Given the description of an element on the screen output the (x, y) to click on. 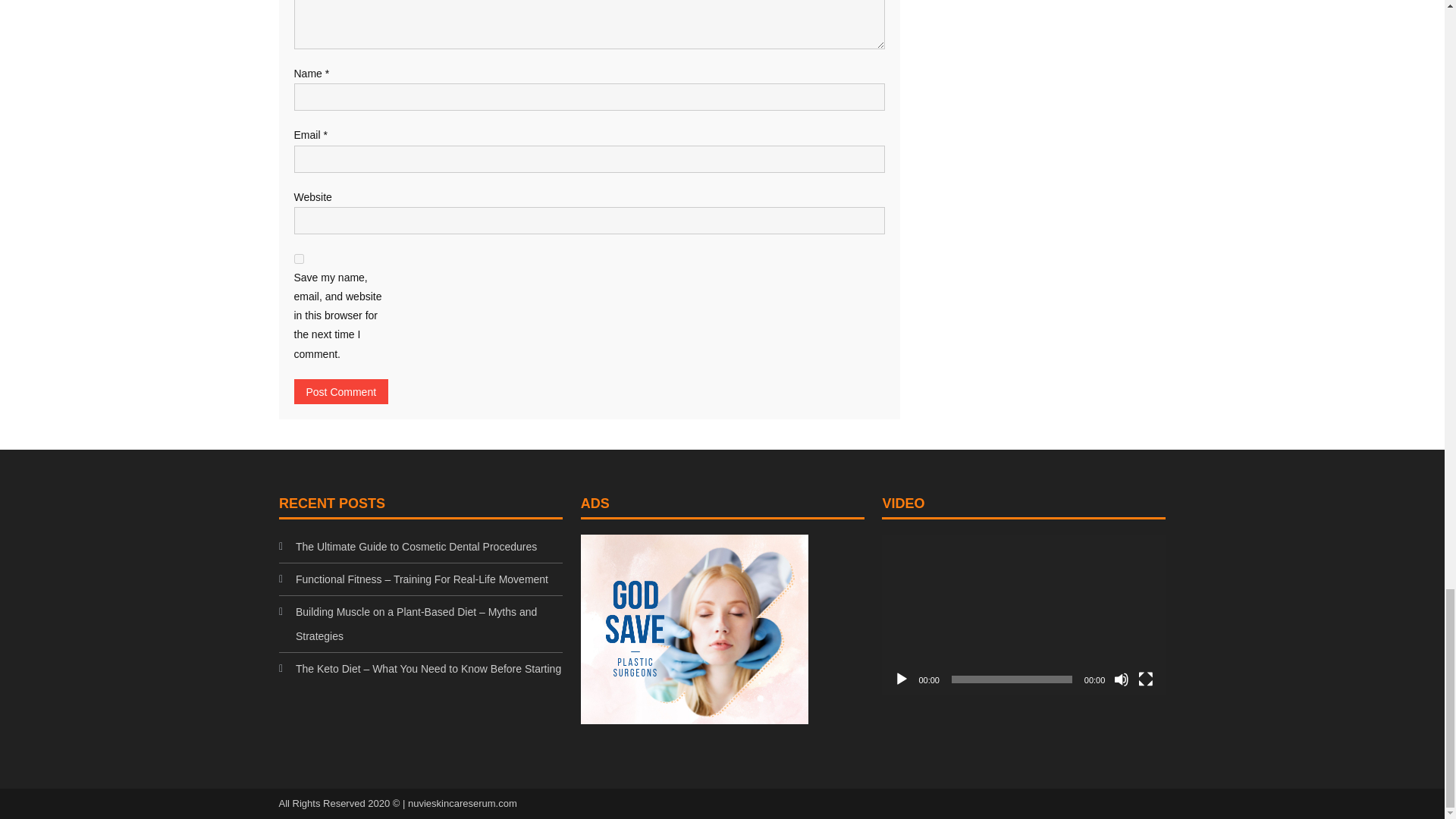
Play (900, 678)
Fullscreen (1145, 678)
Post Comment (341, 391)
Post Comment (341, 391)
Mute (1121, 678)
yes (299, 258)
